Given the description of an element on the screen output the (x, y) to click on. 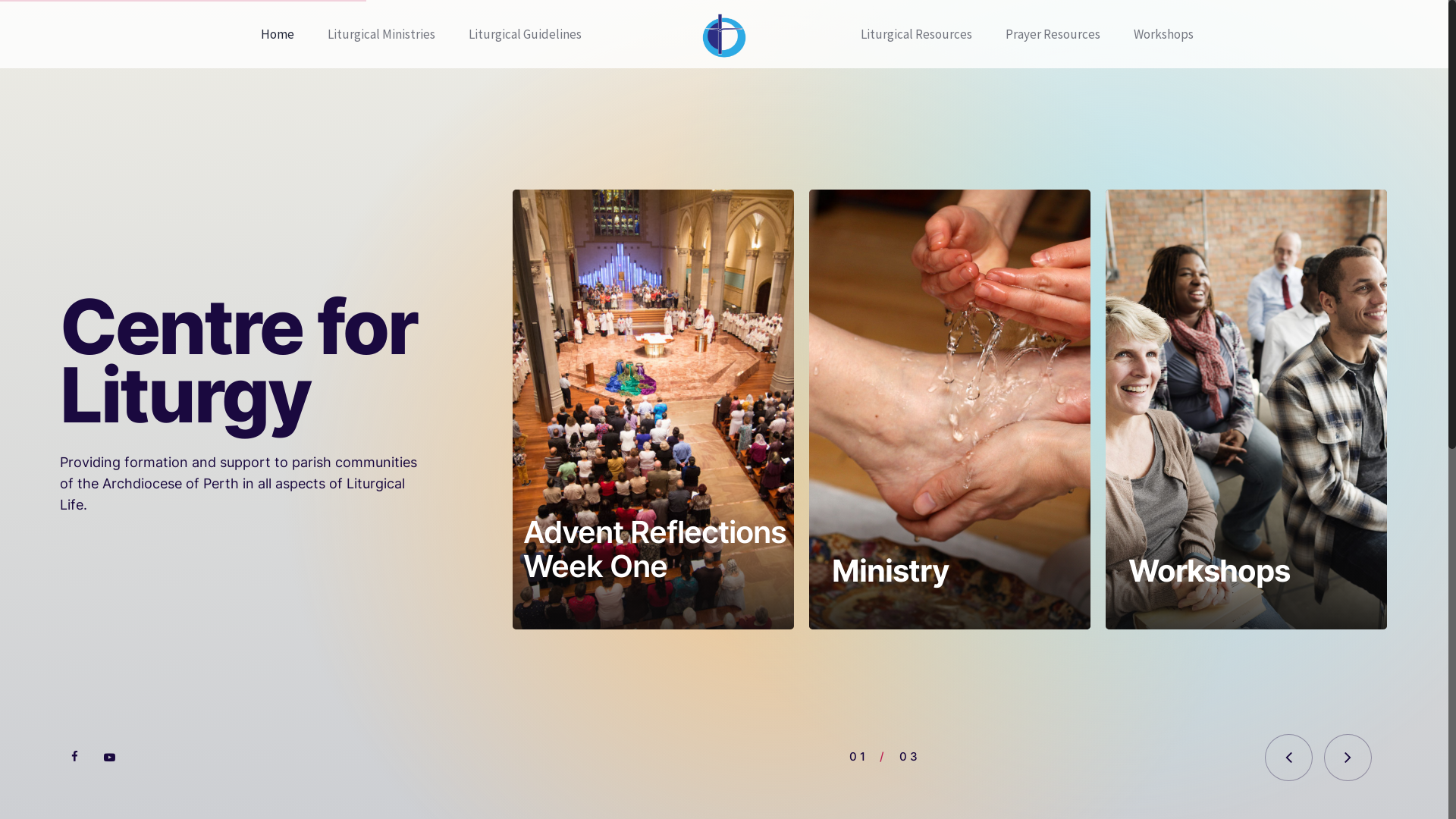
Liturgical Resources Element type: text (916, 34)
Home Element type: text (277, 34)
Workshops Element type: text (1163, 34)
Workshops Element type: text (1208, 570)
CFL Element type: hover (723, 34)
Advent Reflections
Week One Element type: text (598, 548)
Prayer Resources Element type: text (1052, 34)
Ministry Element type: text (889, 570)
Liturgical Ministries Element type: text (381, 34)
Liturgical Guidelines Element type: text (524, 34)
